Given the description of an element on the screen output the (x, y) to click on. 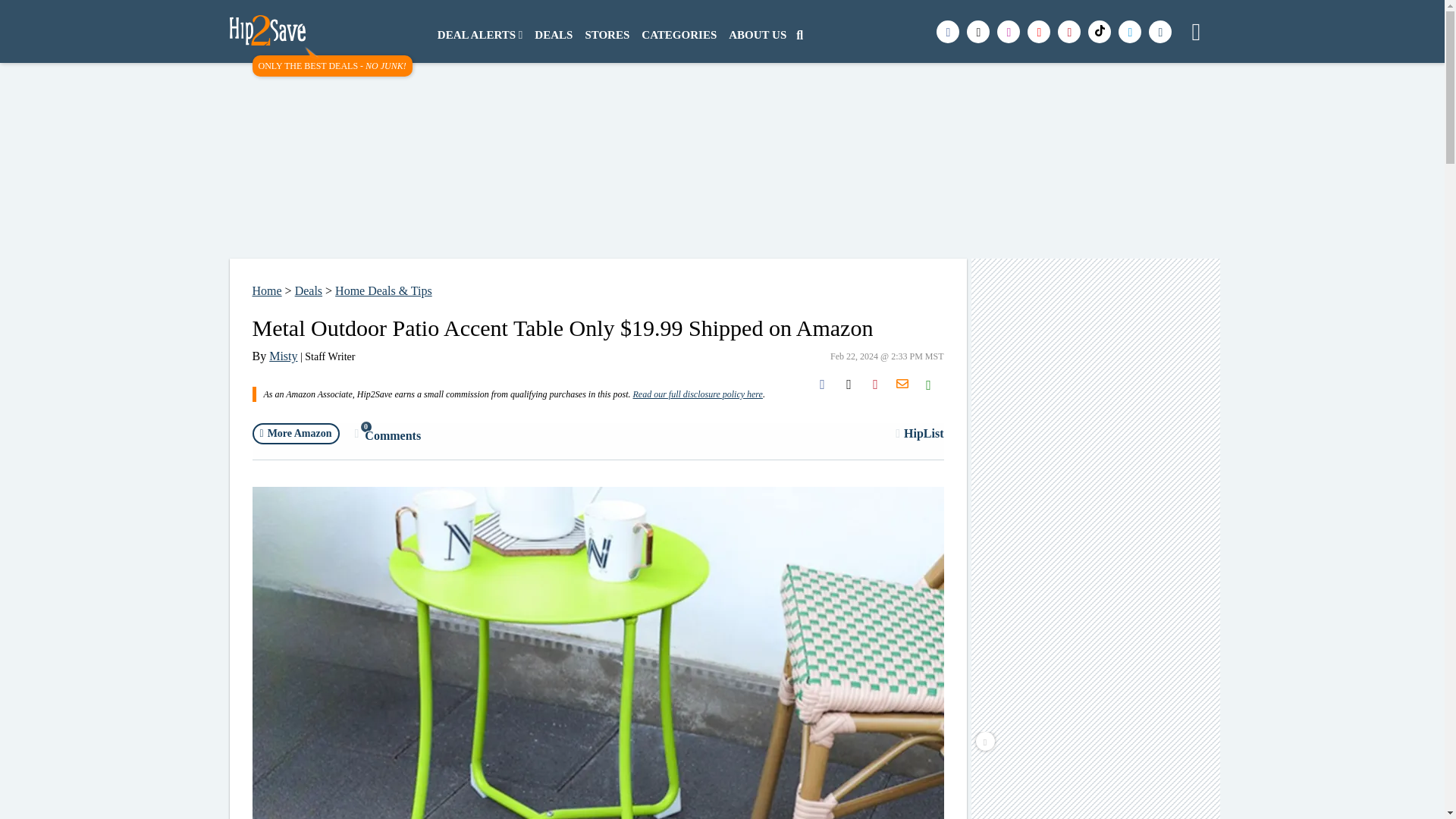
DEALS (553, 35)
STORES (606, 35)
Read our full disclosure policy here (696, 394)
Click to share on X (848, 384)
Deals (308, 290)
Click to share on SMS (927, 384)
Click to share on Facebook (822, 384)
Home (266, 290)
CATEGORIES (388, 434)
ABOUT US (678, 35)
More Amazon (757, 35)
Misty (295, 433)
Click to share on H2S Email (283, 355)
Click to share on Pinterest (902, 384)
